Given the description of an element on the screen output the (x, y) to click on. 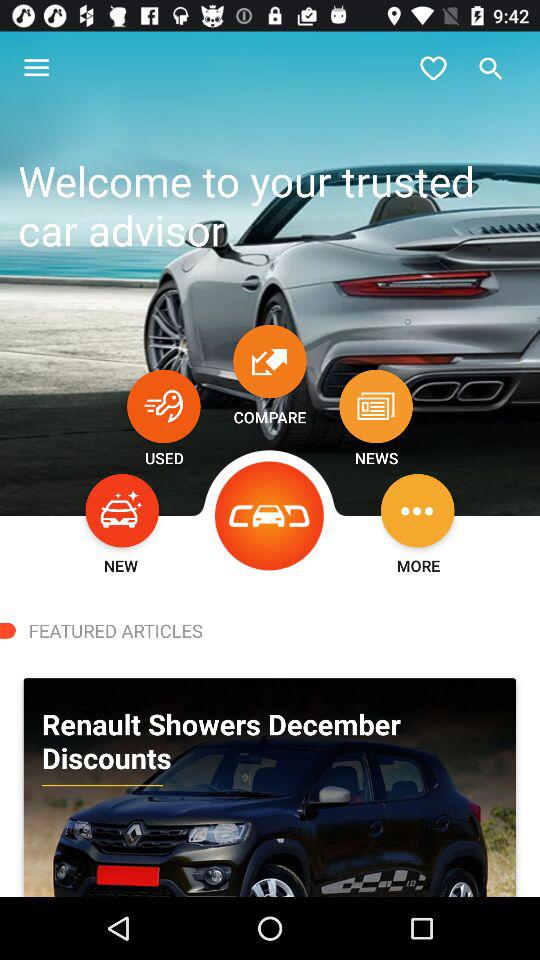
turn off the icon above featured articles icon (269, 515)
